Given the description of an element on the screen output the (x, y) to click on. 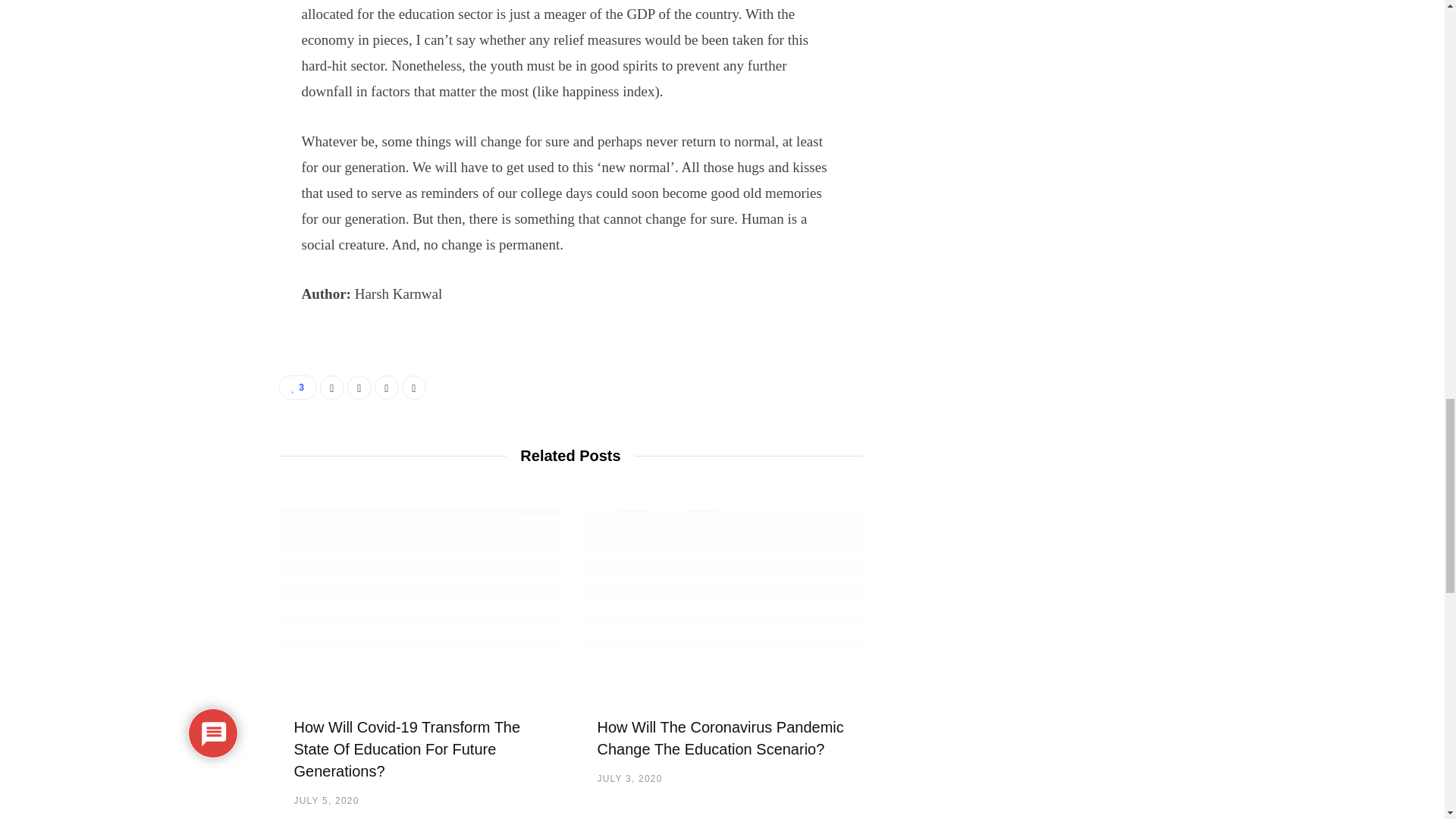
Share on Facebook (331, 387)
3 (298, 387)
Share on Twitter (359, 387)
LinkedIn (386, 387)
Pinterest (413, 387)
